Given the description of an element on the screen output the (x, y) to click on. 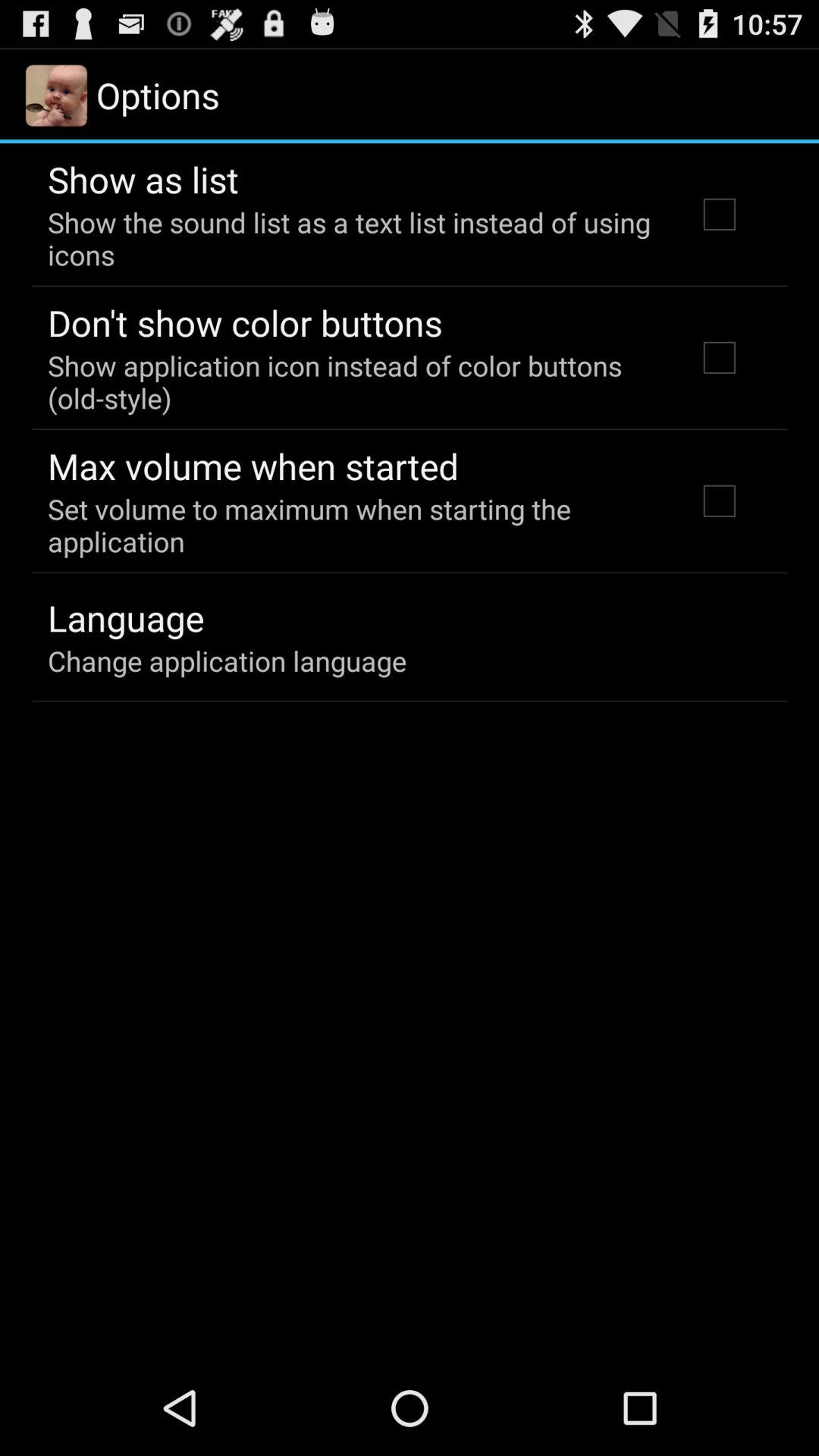
turn off icon below max volume when app (351, 525)
